Given the description of an element on the screen output the (x, y) to click on. 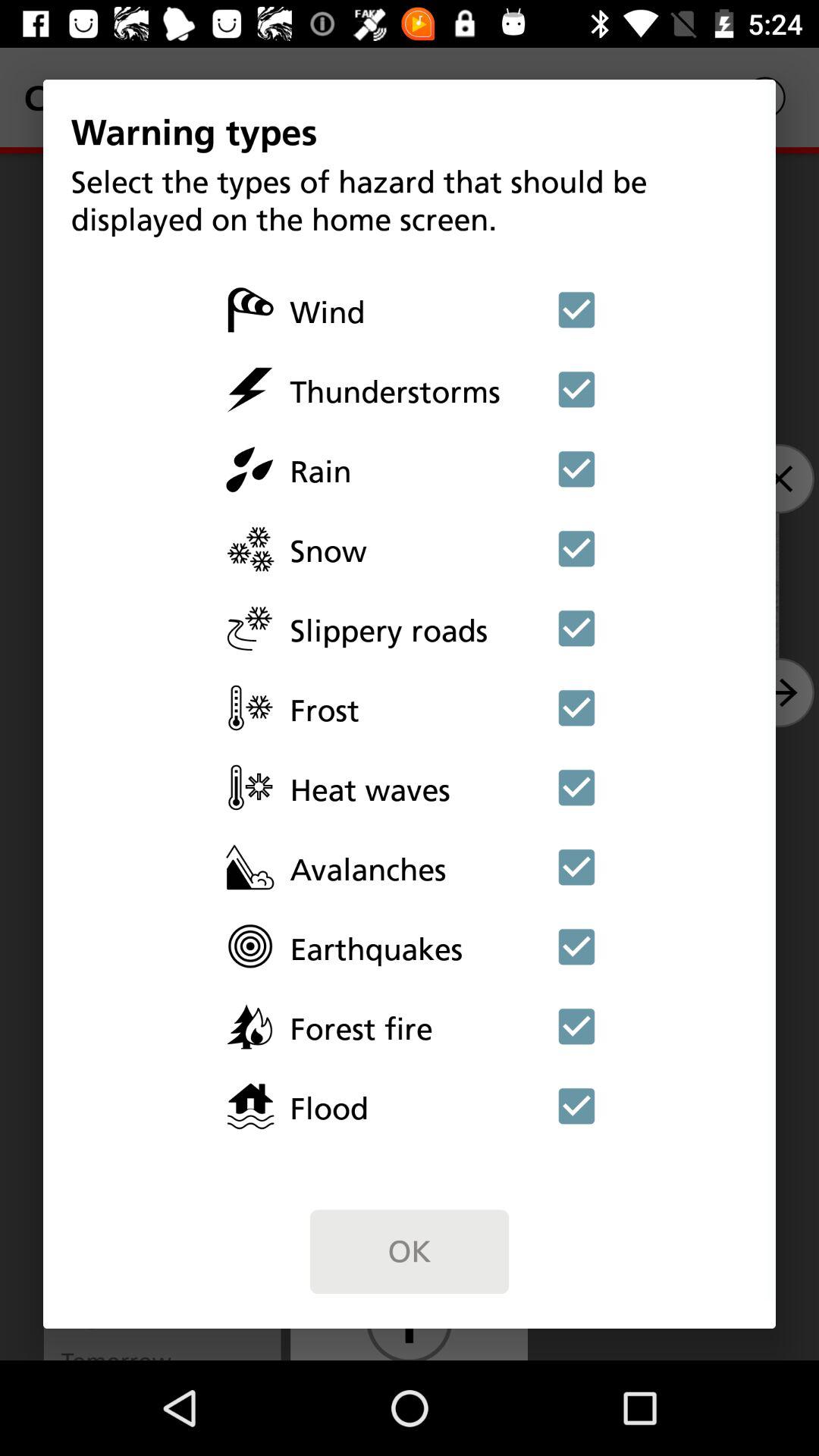
check/uncheck (576, 548)
